Given the description of an element on the screen output the (x, y) to click on. 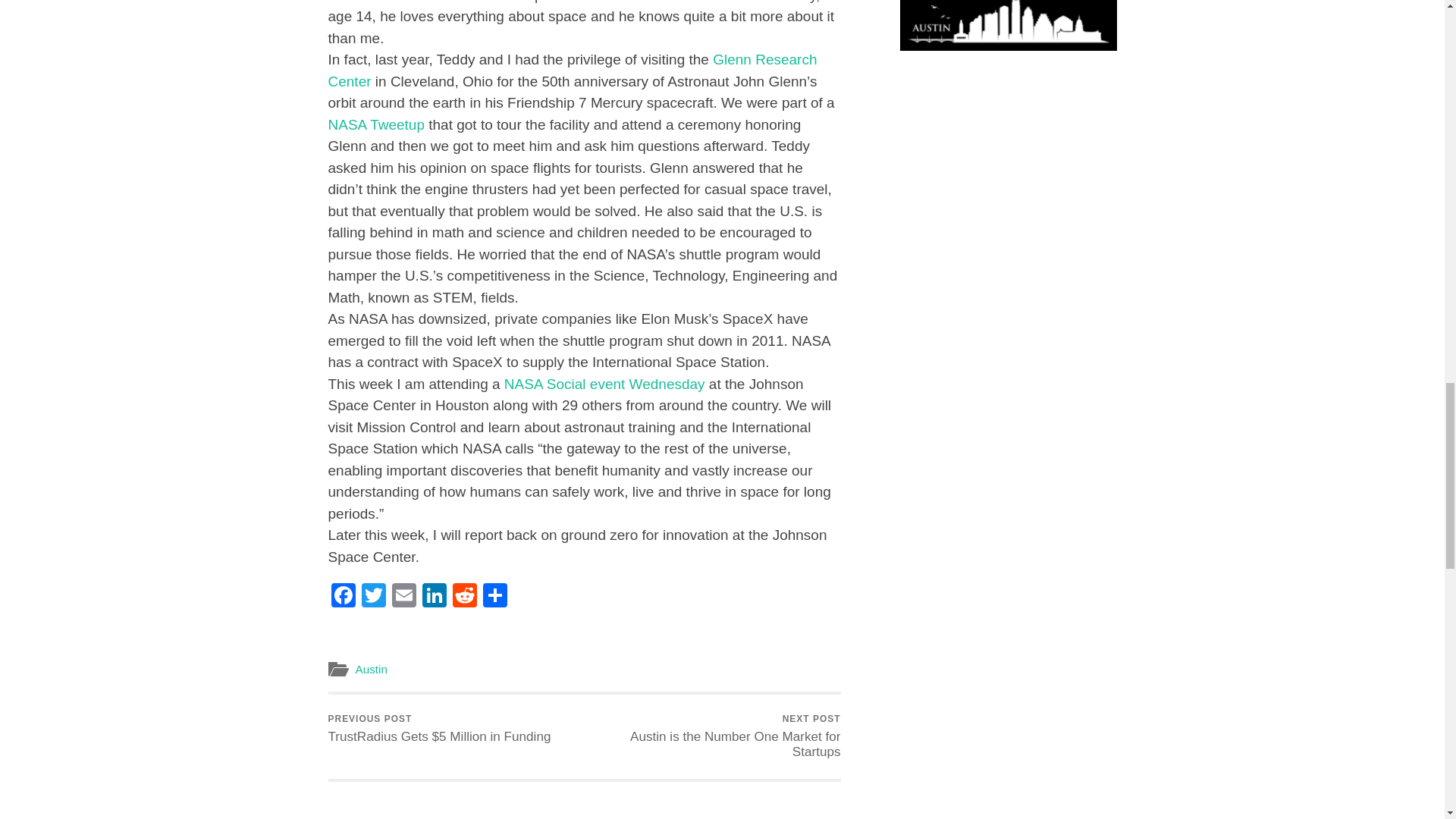
Facebook (342, 596)
Email (403, 596)
LinkedIn (433, 596)
Twitter (373, 596)
Reddit (463, 596)
Email (403, 596)
NASA Social event Wednesday (603, 383)
Reddit (463, 596)
Austin (371, 668)
Twitter (373, 596)
NASA Tweetup (375, 124)
Glenn Research Center (571, 70)
Facebook (342, 596)
LinkedIn (433, 596)
